Given the description of an element on the screen output the (x, y) to click on. 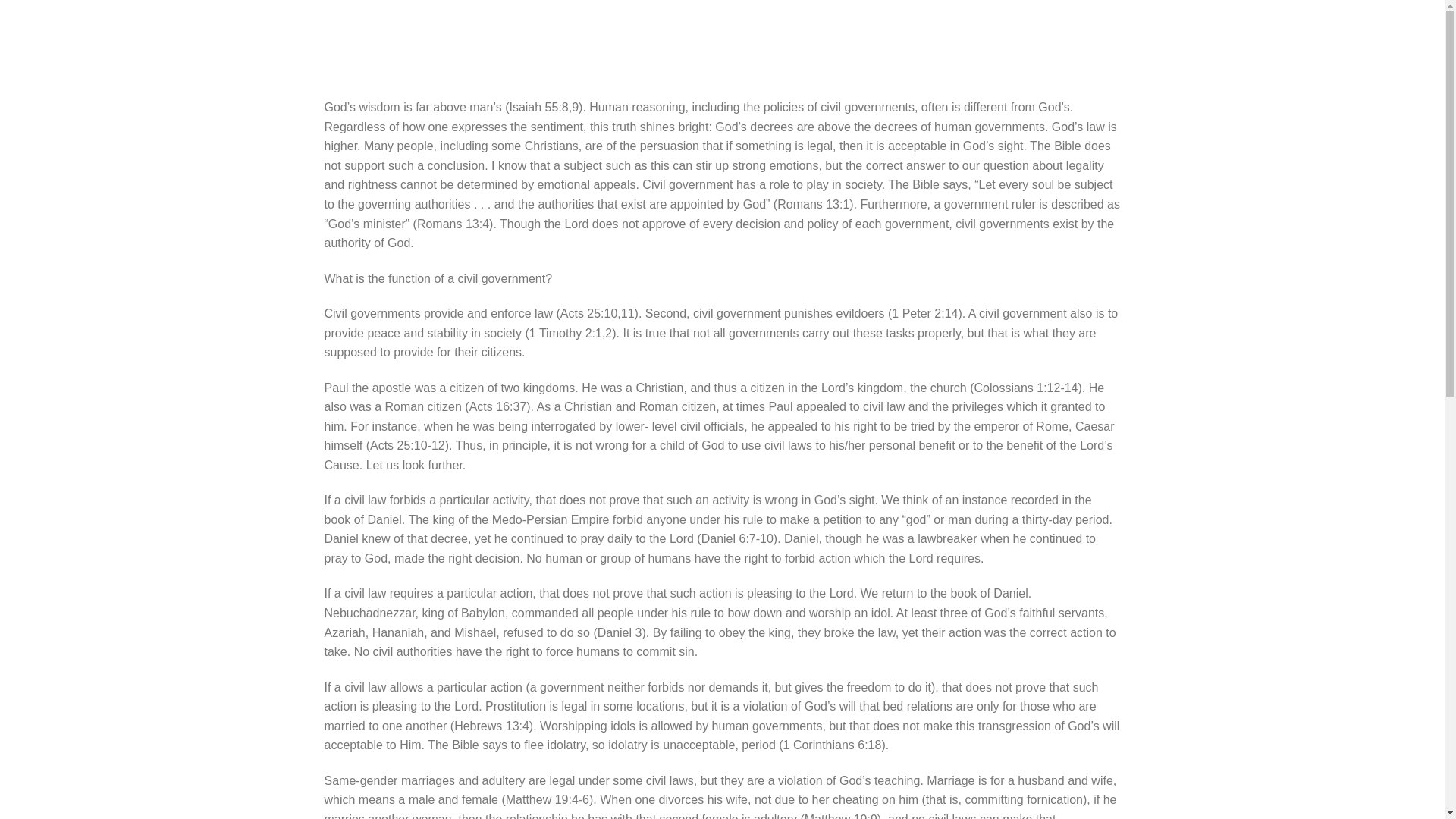
Home (819, 37)
Beliefs (960, 37)
Contact Us (1229, 37)
Personal Study (1127, 37)
About Us (886, 37)
Events (1308, 37)
